Given the description of an element on the screen output the (x, y) to click on. 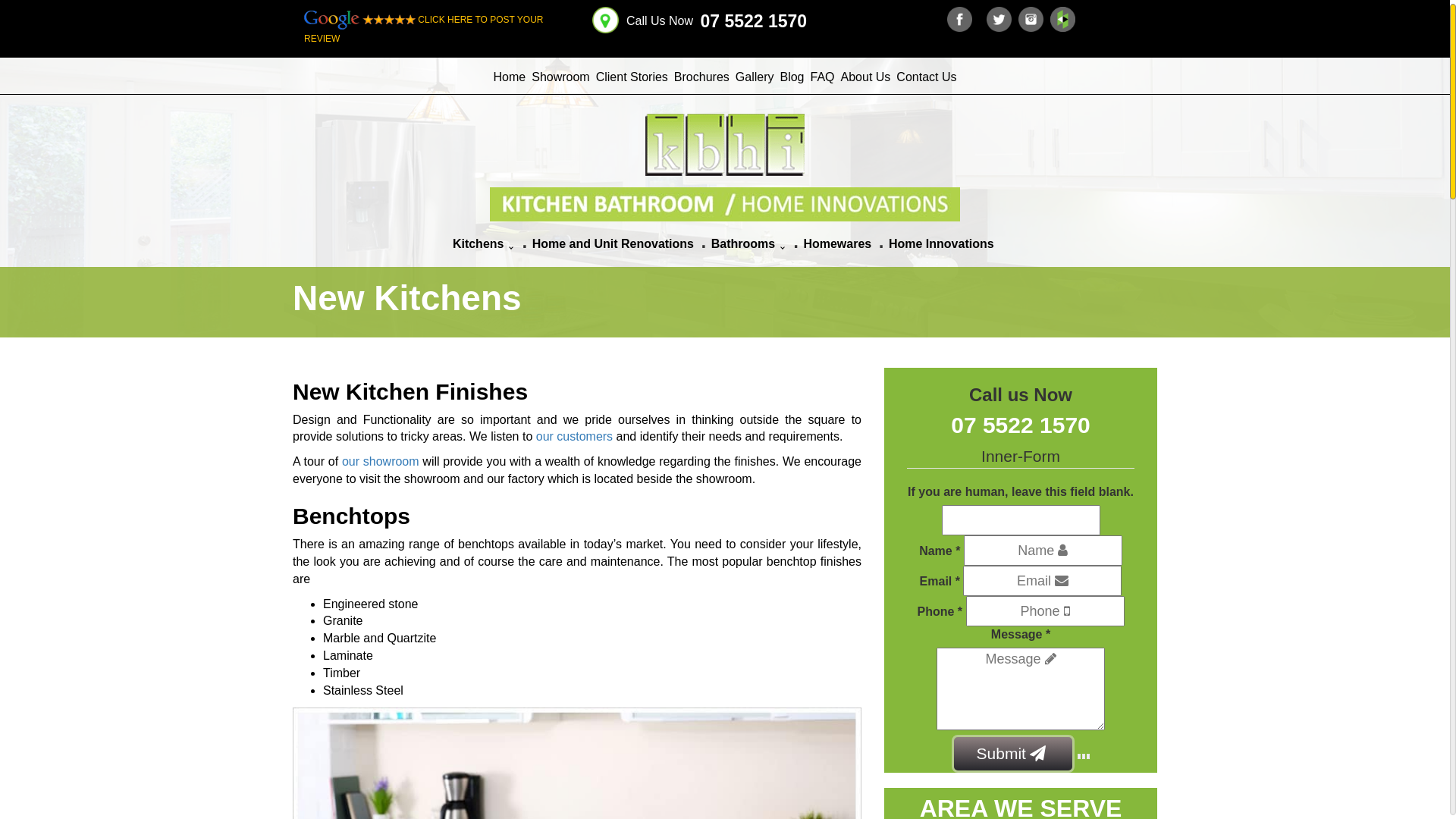
07 5522 1570 Element type: text (1020, 424)
Gallery Element type: text (754, 76)
Home and Unit Renovations Element type: text (612, 243)
Homewares Element type: text (837, 243)
07 5522 1570 Element type: text (751, 21)
Bathrooms Element type: text (746, 243)
our customers Element type: text (574, 435)
our showroom Element type: text (380, 461)
Home Element type: text (509, 76)
Kitchens Element type: text (481, 243)
CLICK HERE TO POST YOUR REVIEW Element type: text (423, 28)
Showroom Element type: text (560, 76)
FAQ Element type: text (821, 76)
Home Innovations Element type: text (940, 243)
About Us Element type: text (865, 76)
Client Stories Element type: text (632, 76)
Contact Us Element type: text (926, 76)
Brochures Element type: text (701, 76)
Blog Element type: text (791, 76)
